Given the description of an element on the screen output the (x, y) to click on. 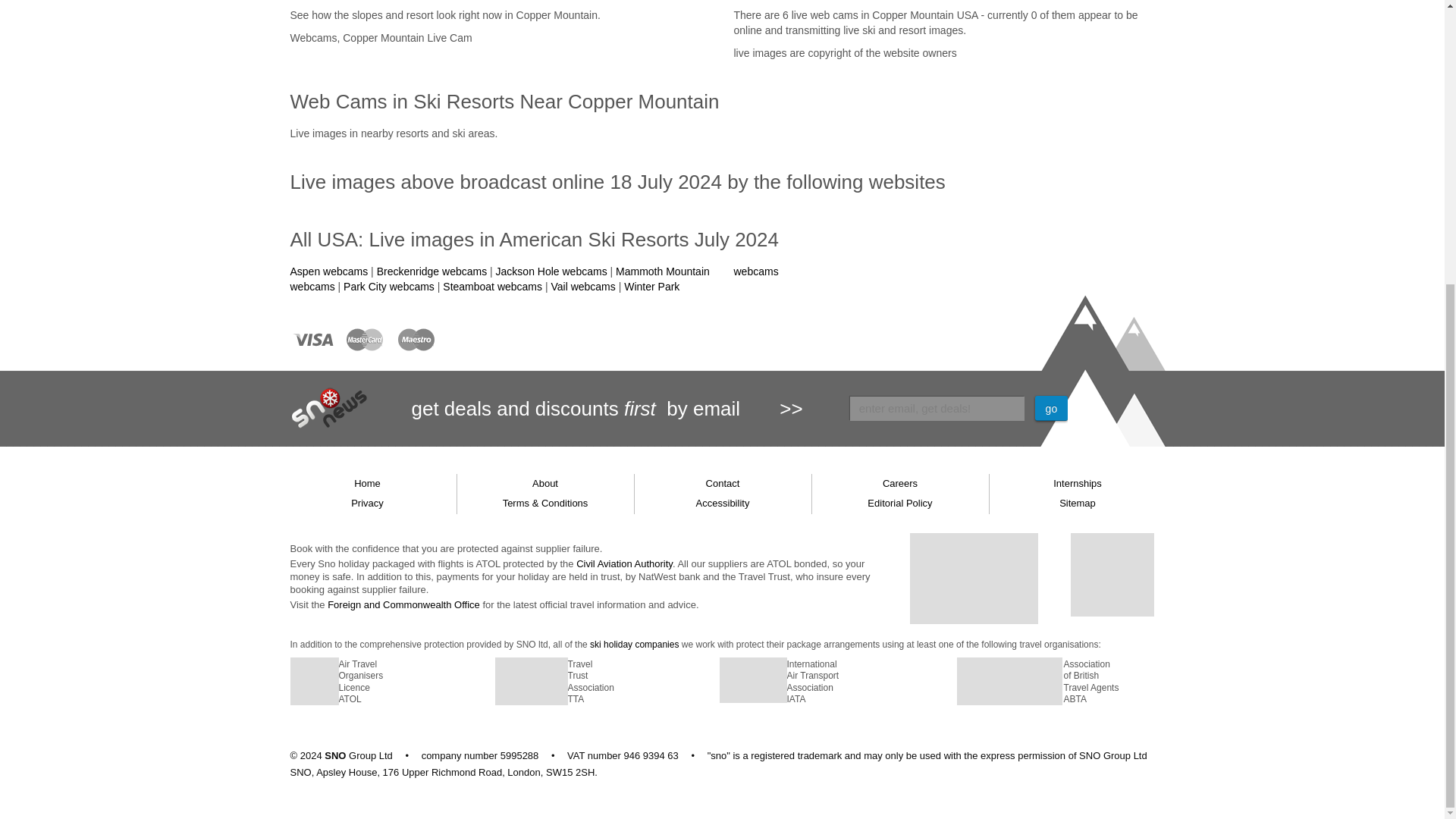
Winter Park webcams (818, 278)
go (1051, 407)
Park City webcams (388, 286)
Home (368, 484)
Aspen webcams (328, 271)
Jackson Hole webcams (551, 271)
Vail webcams (582, 286)
Steamboat webcams (491, 286)
Breckenridge webcams (432, 271)
About (545, 484)
Mammoth Mountain webcams (499, 278)
Contact (721, 484)
enter email, get deals! (937, 408)
